Given the description of an element on the screen output the (x, y) to click on. 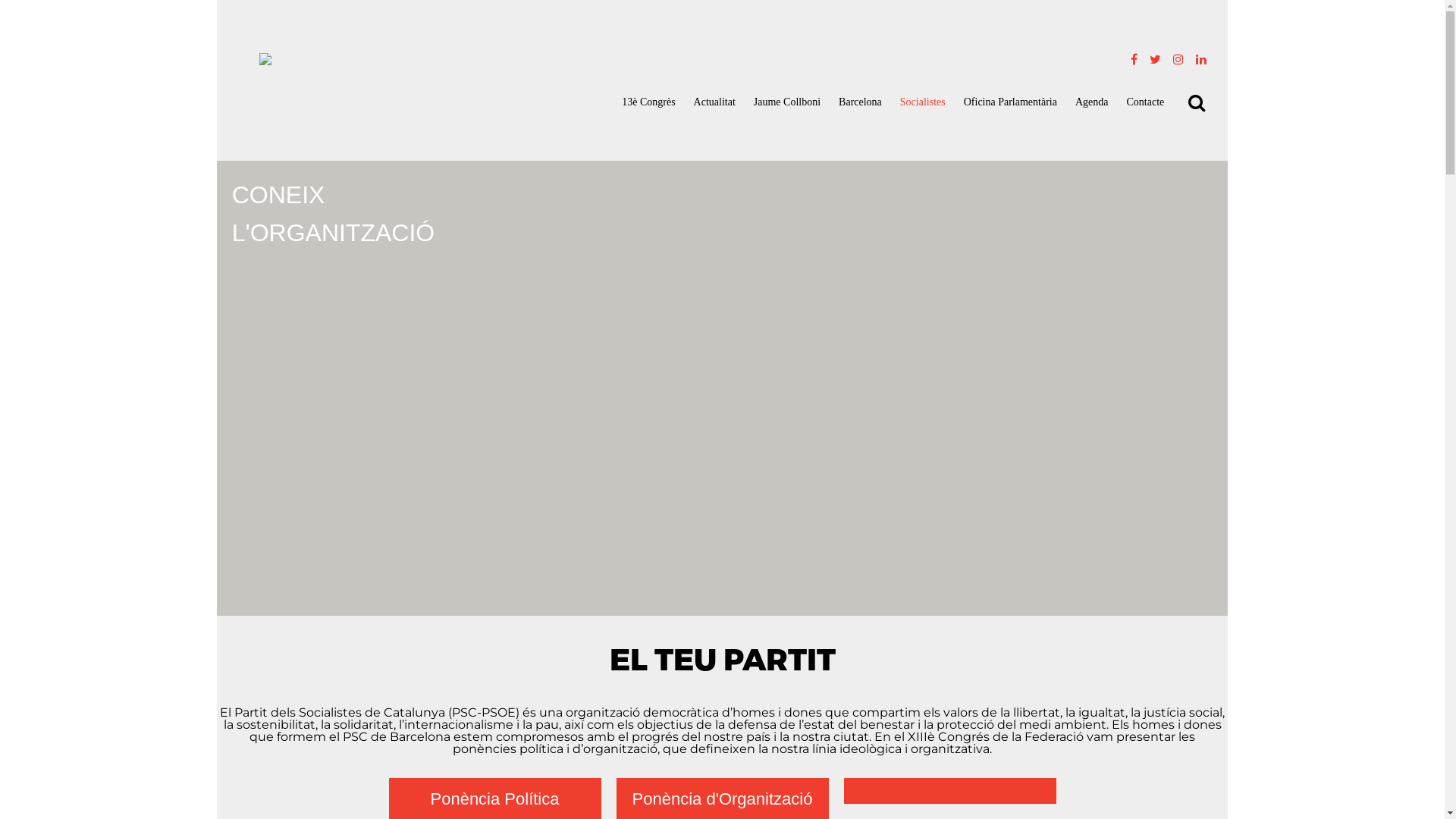
Barcelona Element type: text (860, 101)
search Element type: text (15, 5)
Contacte Element type: text (1145, 101)
Jaume Collboni Element type: text (786, 101)
Socialistes Element type: text (922, 101)
Agenda Element type: text (1091, 101)
Actualitat Element type: text (714, 101)
